Given the description of an element on the screen output the (x, y) to click on. 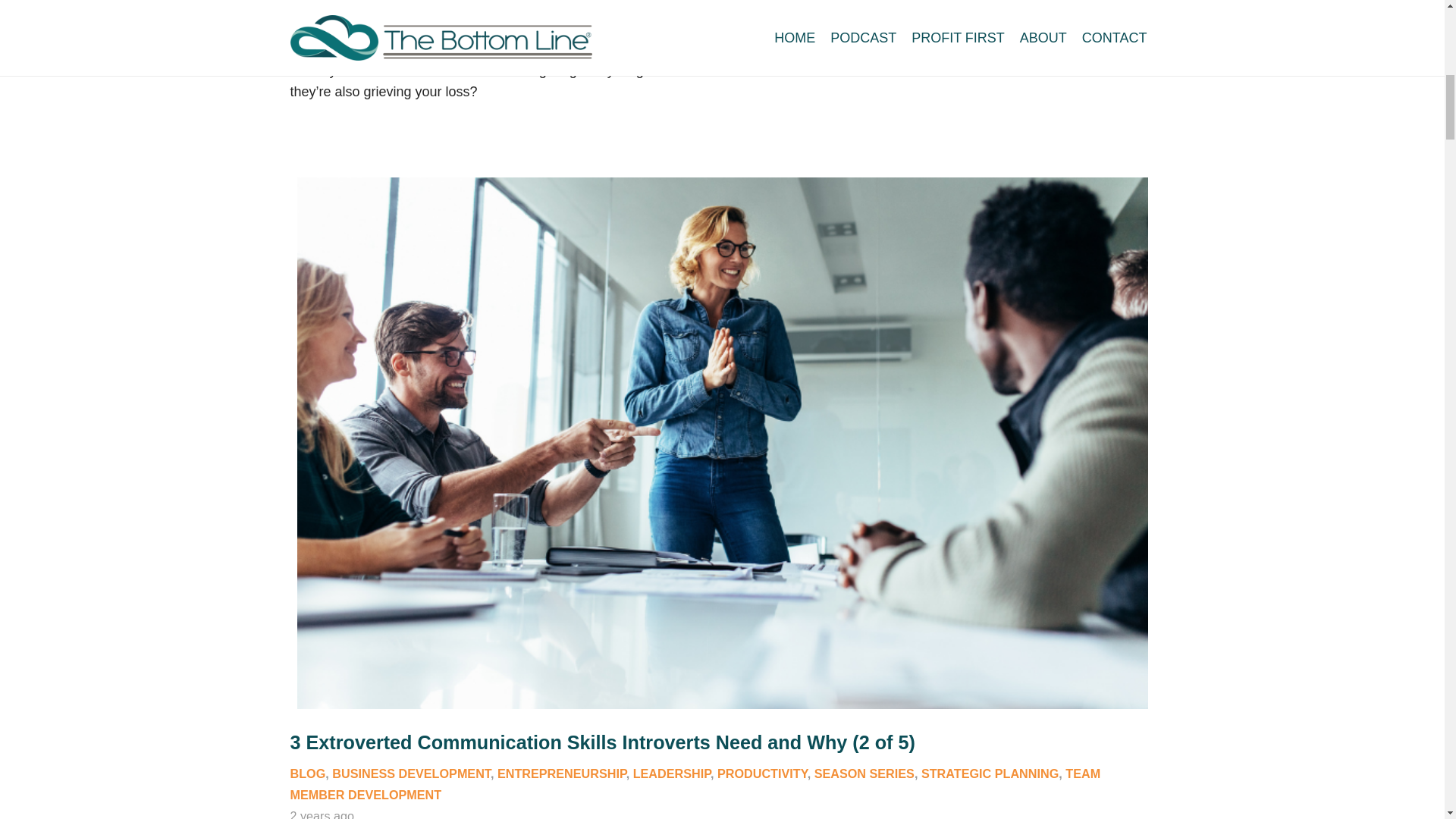
BLOG (306, 773)
STRATEGIC PLANNING (807, 20)
LEADERSHIP (671, 773)
PRODUCTIVITY (762, 773)
COMPANY ASSETS (346, 20)
BUSINESS DEVELOPMENT (410, 773)
Back to top (30, 26)
TEAM MEMBER DEVELOPMENT (694, 783)
SEASON SERIES (863, 773)
STRATEGIC PLANNING (989, 773)
PAY PLAY PROFIT PODCAST (494, 20)
ENTREPRENEURSHIP (561, 773)
